Given the description of an element on the screen output the (x, y) to click on. 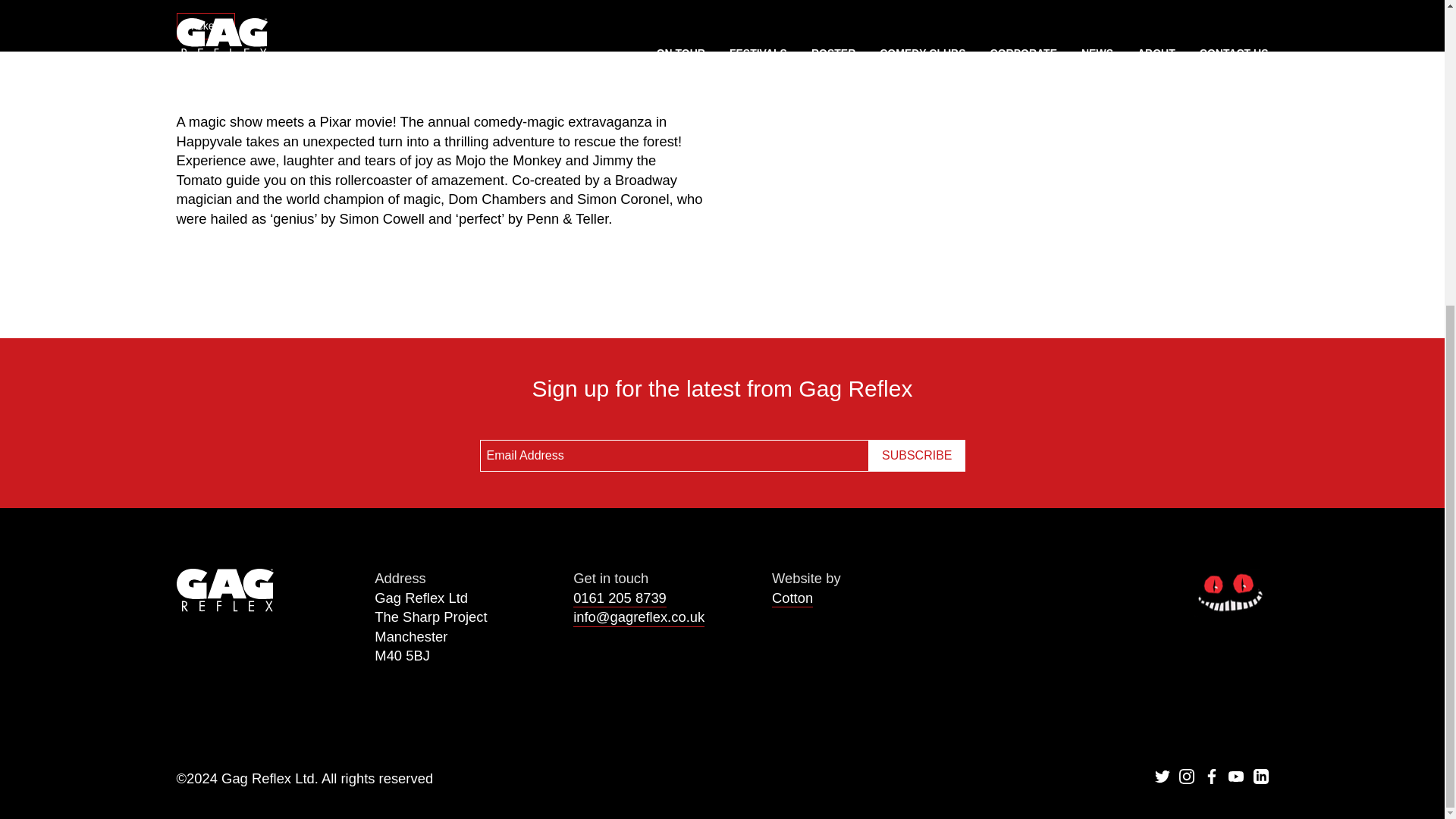
Subscribe (916, 455)
Subscribe (916, 455)
Cotton (791, 598)
0161 205 8739 (619, 598)
Tickets (205, 26)
